Given the description of an element on the screen output the (x, y) to click on. 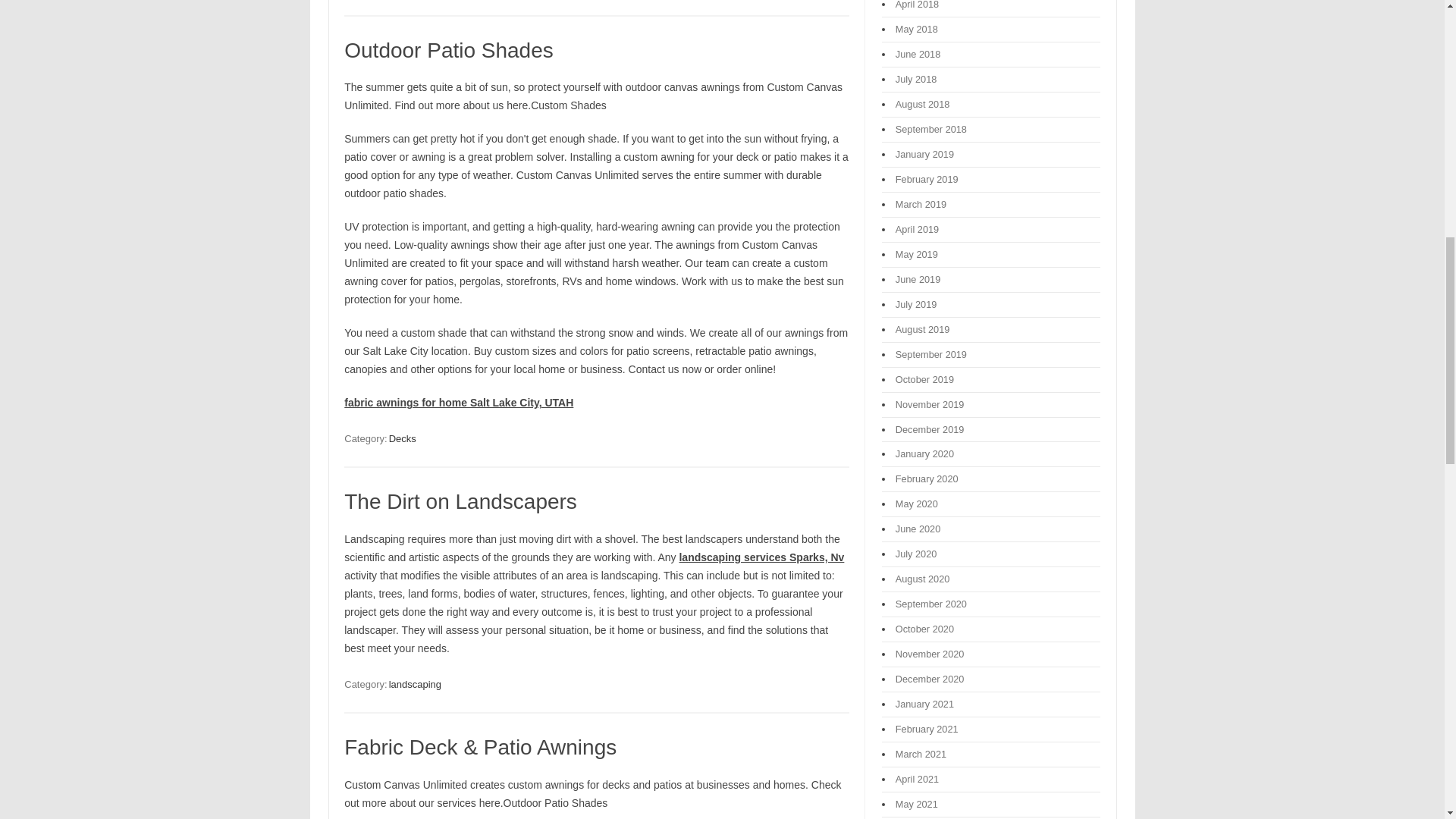
The Dirt on Landscapers (459, 501)
Decks (402, 438)
landscaping (414, 684)
Outdoor Patio Shades (448, 50)
landscaping services Sparks, Nv (761, 557)
The Dirt on Landscapers (459, 501)
View all posts in Decks (402, 438)
Outdoor Patio Shades (448, 50)
View all posts in landscaping (414, 684)
fabric awnings for home Salt Lake City, UTAH (458, 402)
